Given the description of an element on the screen output the (x, y) to click on. 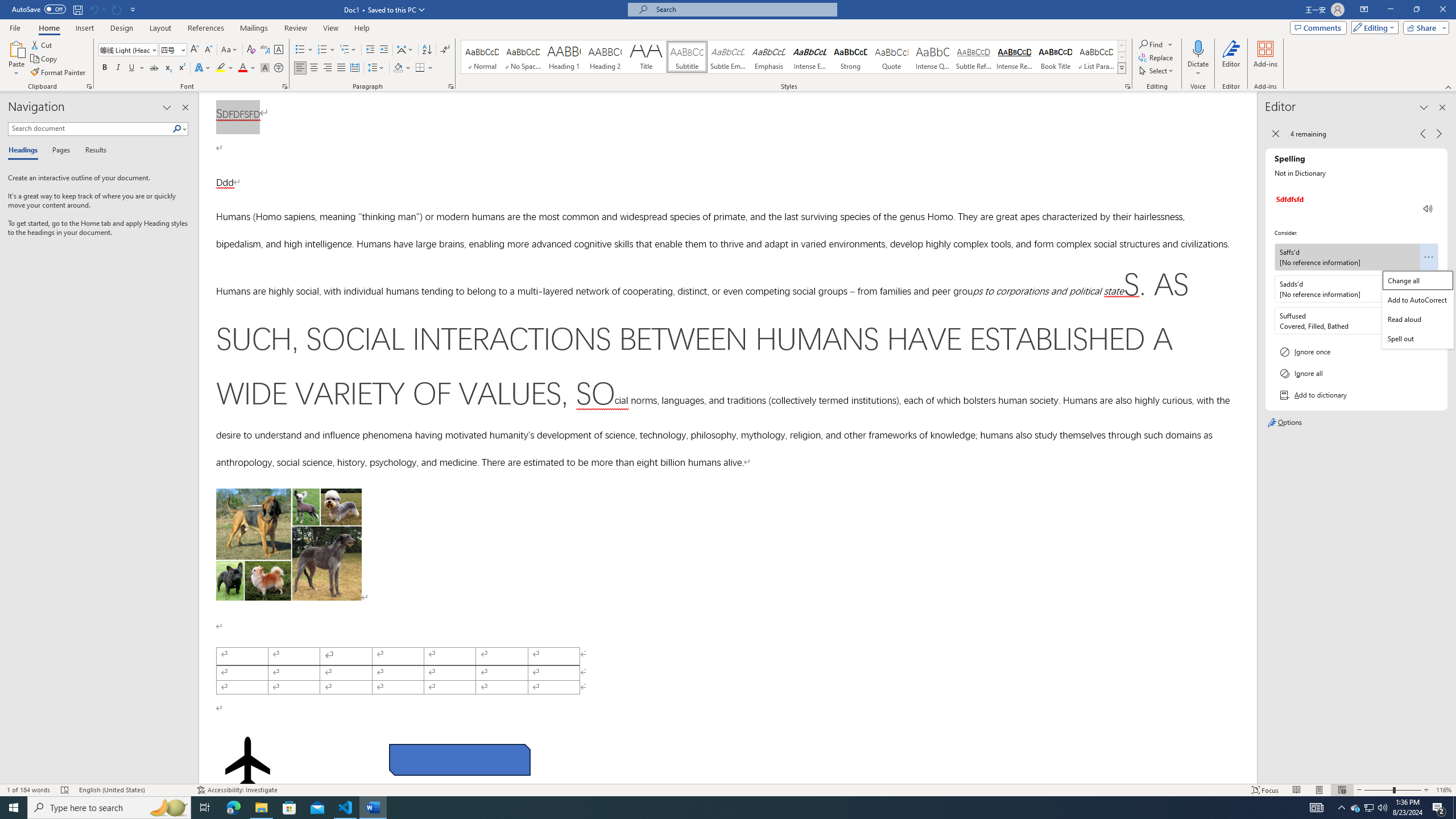
Running applications (717, 807)
Word - 1 running window (373, 807)
